Given the description of an element on the screen output the (x, y) to click on. 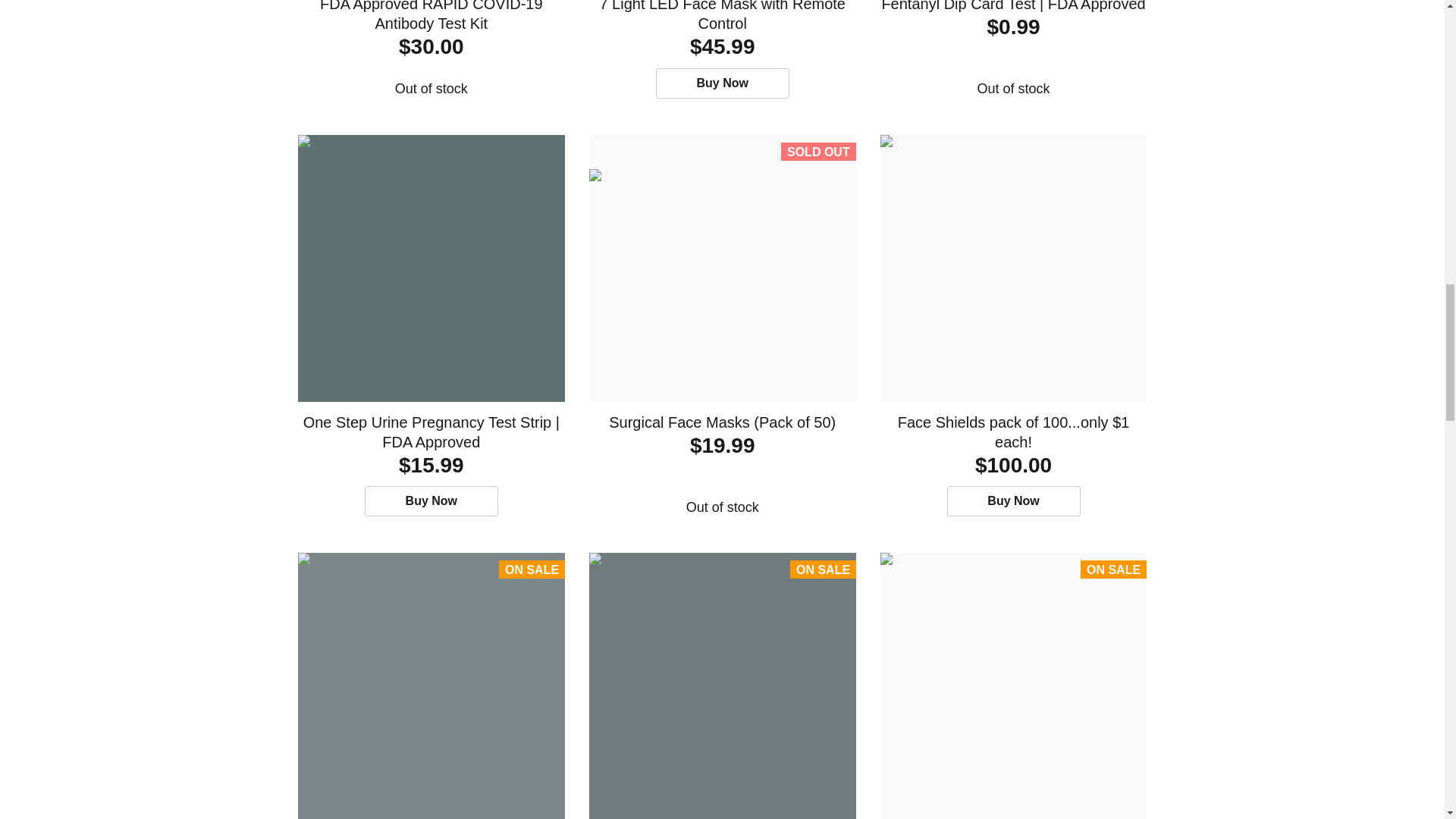
7 Light LED Face Mask with Remote Control (722, 16)
FDA Approved RAPID COVID-19 Antibody Test Kit (431, 16)
Buy Now (431, 501)
Buy Now (722, 82)
